Given the description of an element on the screen output the (x, y) to click on. 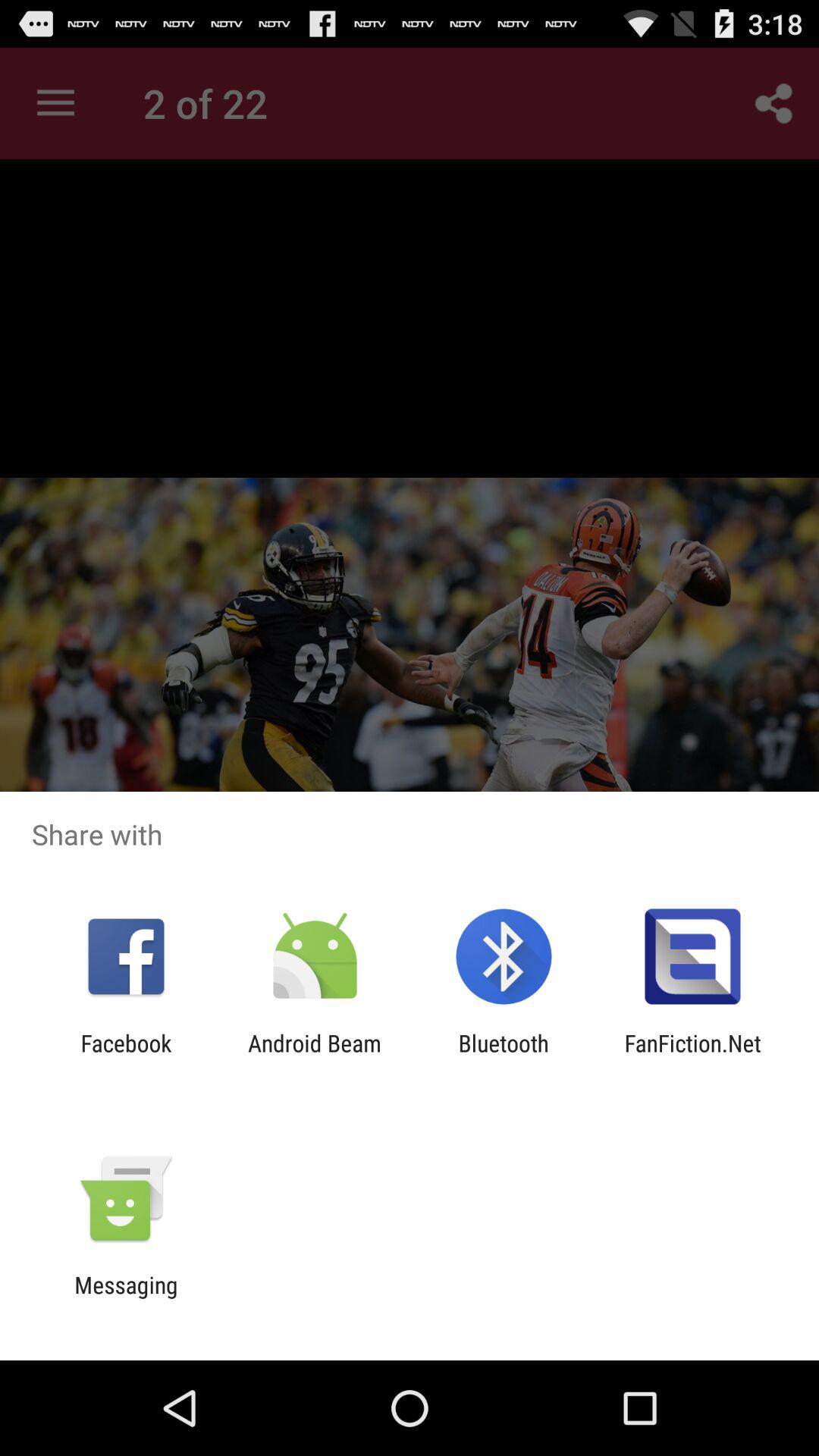
open app to the left of the fanfiction.net app (503, 1056)
